Given the description of an element on the screen output the (x, y) to click on. 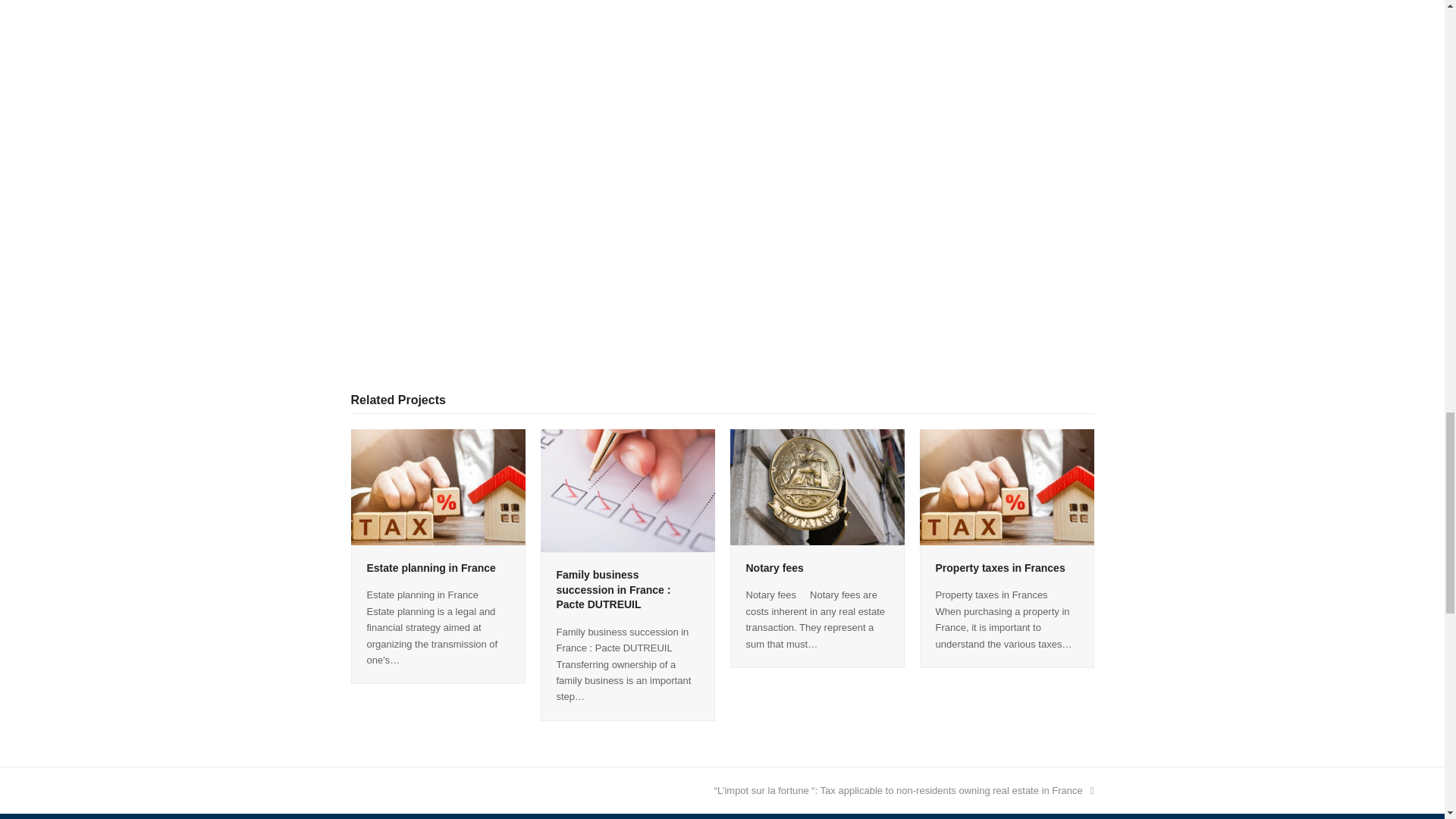
Property taxes in Frances (1005, 486)
Family business succession in France : Pacte DUTREUIL (627, 489)
Notary fees (816, 486)
Estate planning in France (437, 486)
